Given the description of an element on the screen output the (x, y) to click on. 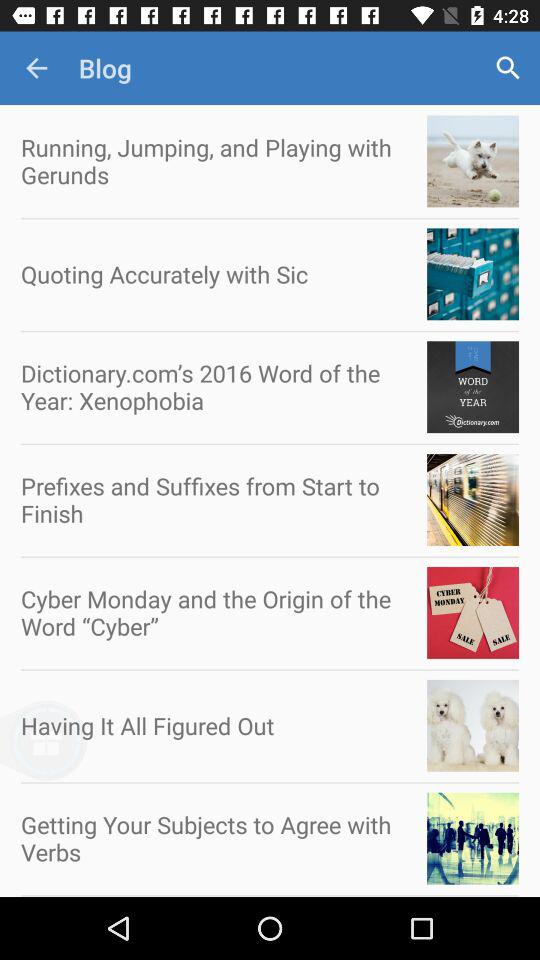
tap item above the running jumping and icon (36, 68)
